Given the description of an element on the screen output the (x, y) to click on. 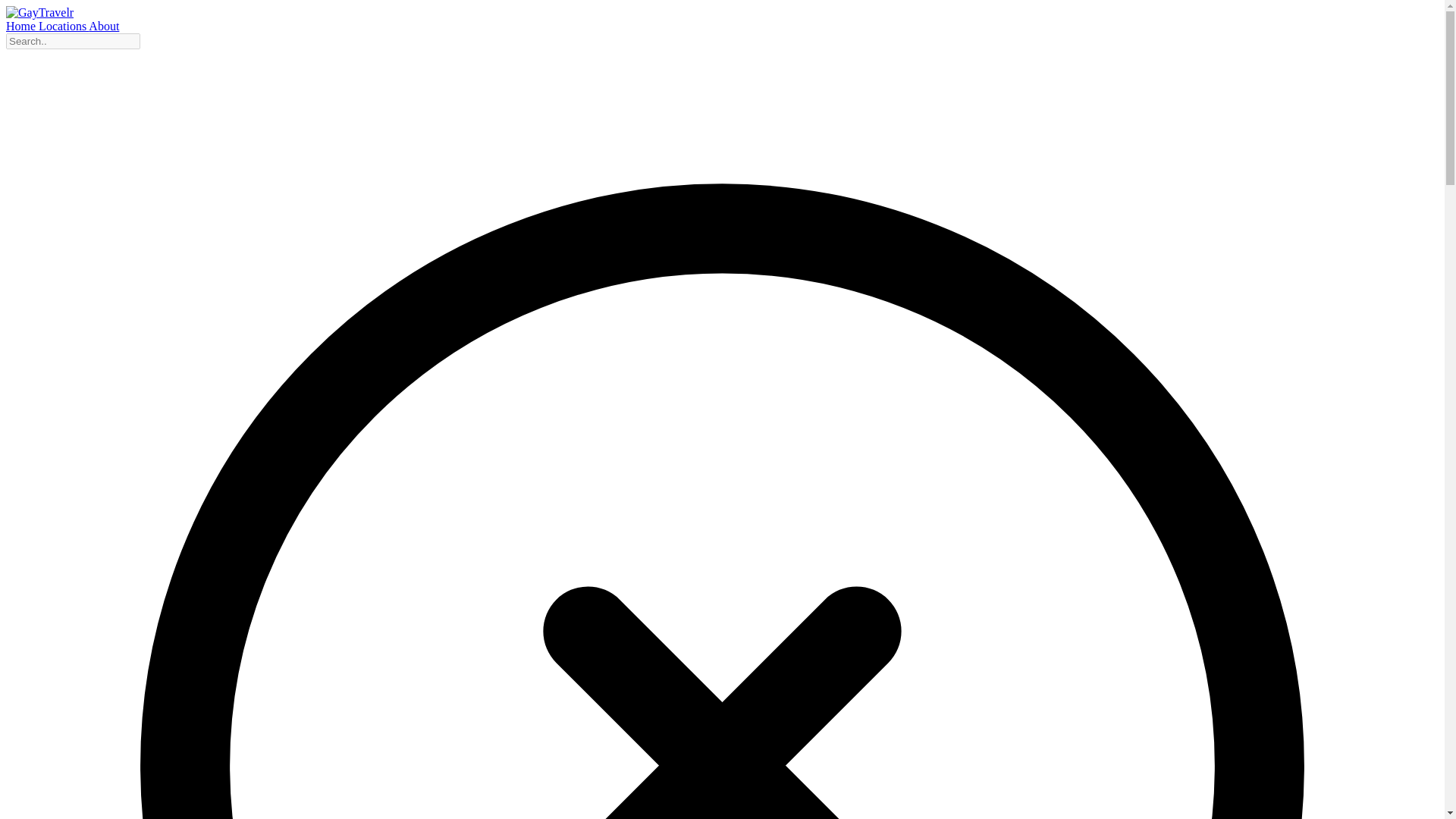
Locations (63, 25)
Home (22, 25)
About (103, 25)
